Given the description of an element on the screen output the (x, y) to click on. 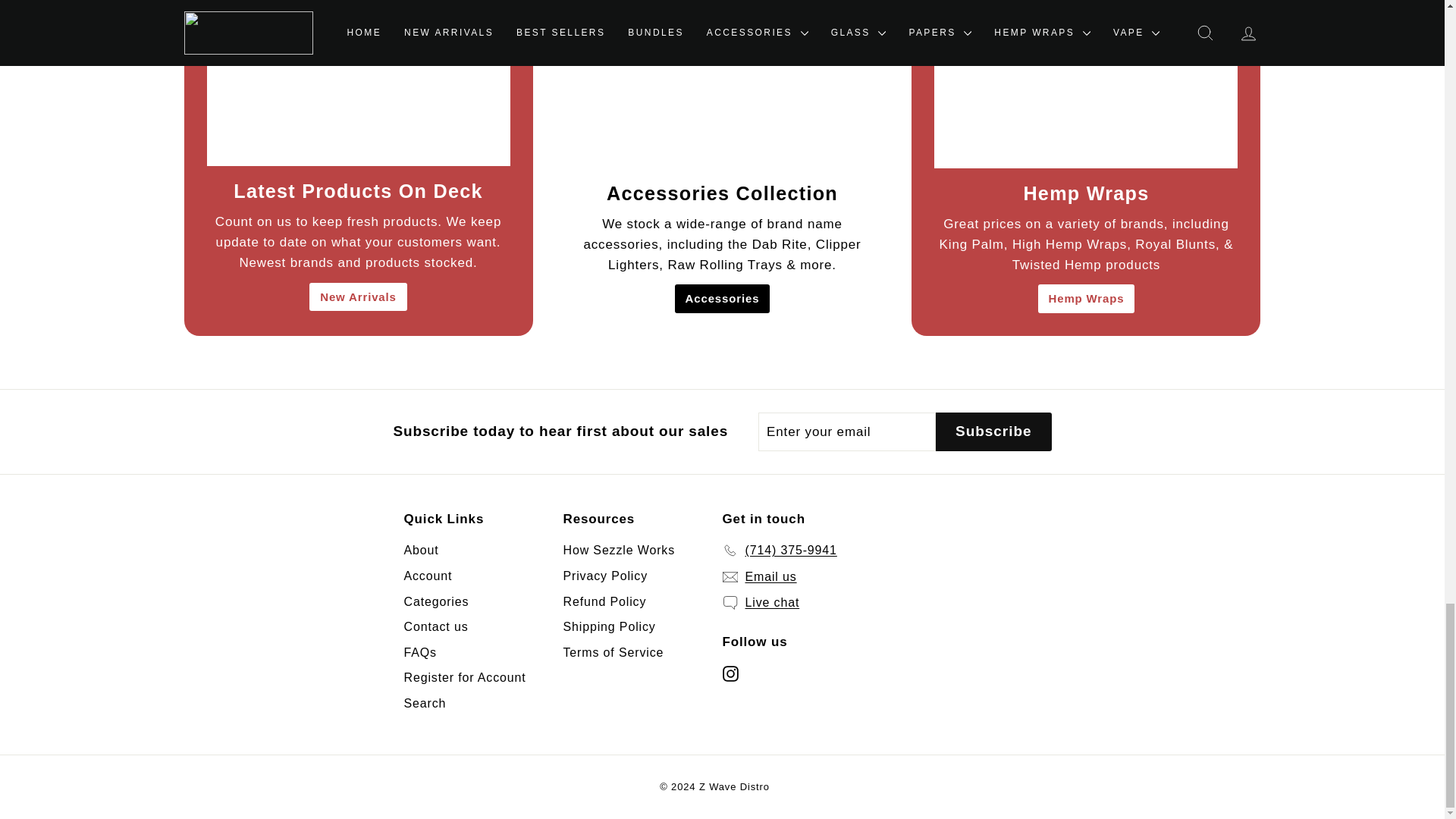
instagram (730, 673)
